Given the description of an element on the screen output the (x, y) to click on. 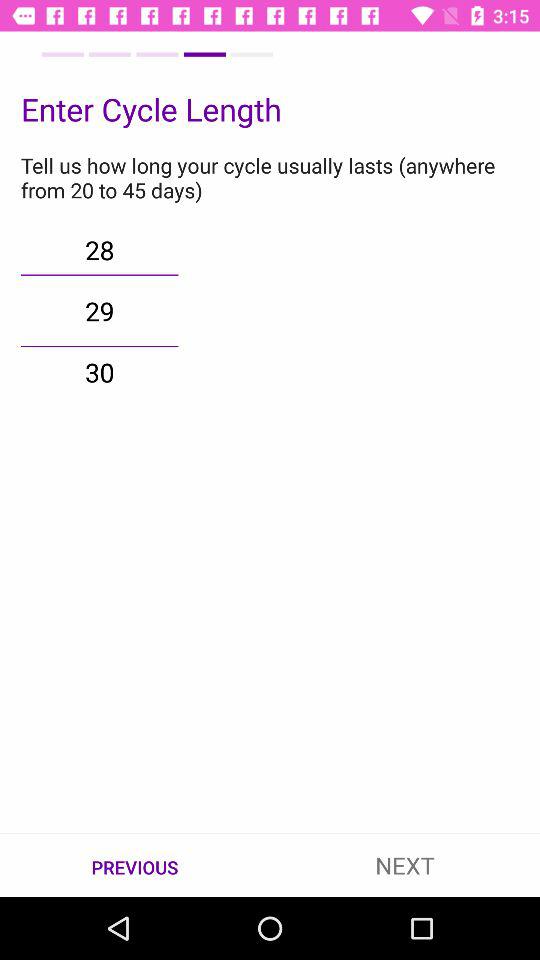
scroll until the previous item (135, 865)
